Given the description of an element on the screen output the (x, y) to click on. 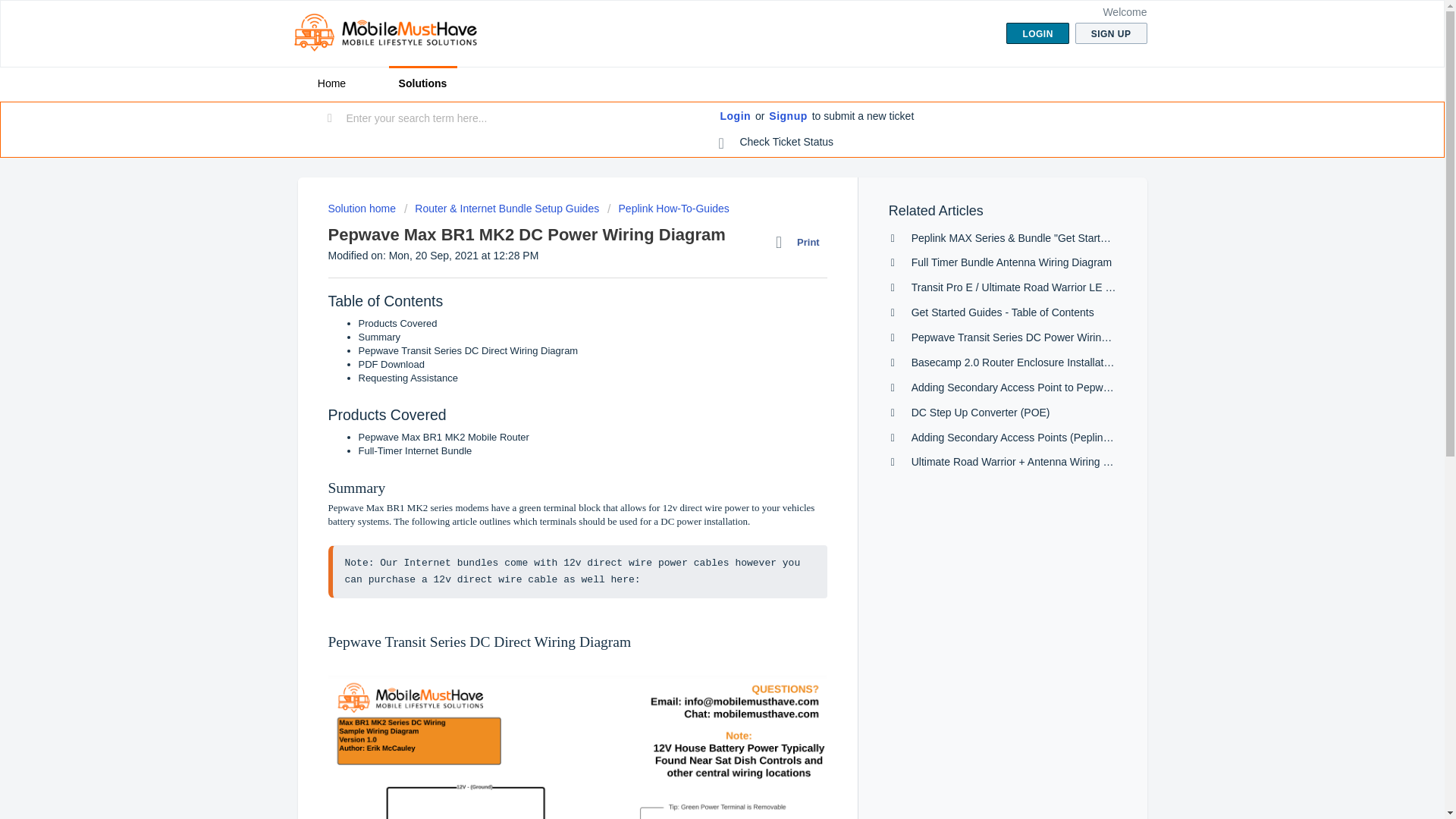
Pepwave Transit Series DC Direct Wiring Diagram (468, 350)
SIGN UP (1111, 33)
Full Timer Bundle Antenna Wiring Diagram (1011, 262)
Solutions (422, 83)
12v direct wire cable as well here (533, 579)
Solution home (362, 208)
Requesting Assistance (408, 378)
Home (331, 83)
Summary (379, 337)
Check Ticket Status (776, 142)
